Given the description of an element on the screen output the (x, y) to click on. 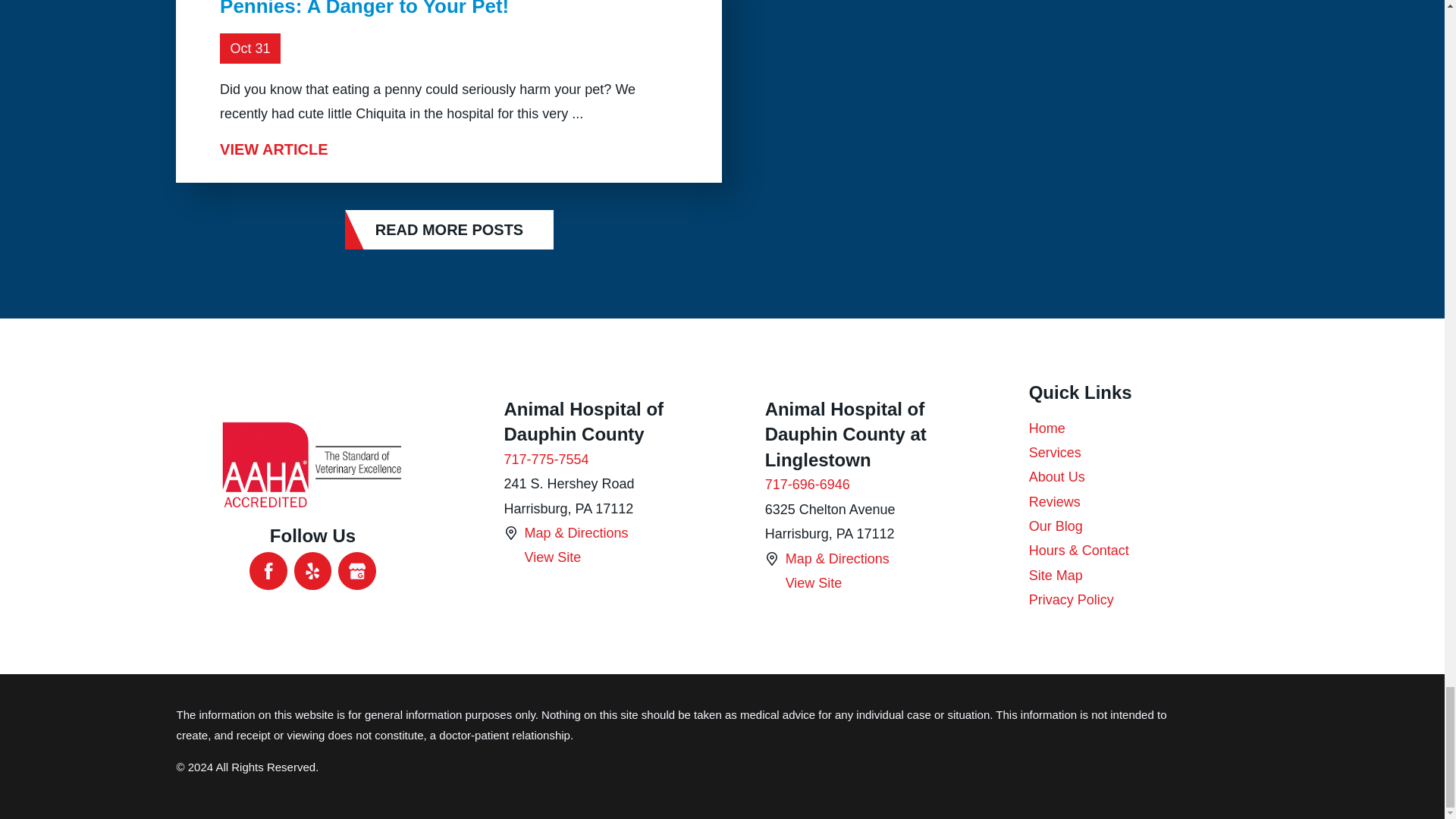
Facebook (267, 570)
Yelp (312, 570)
Site Icon (509, 532)
Site Icon (509, 558)
Site Icon (771, 558)
Google Business Profile (356, 570)
